Given the description of an element on the screen output the (x, y) to click on. 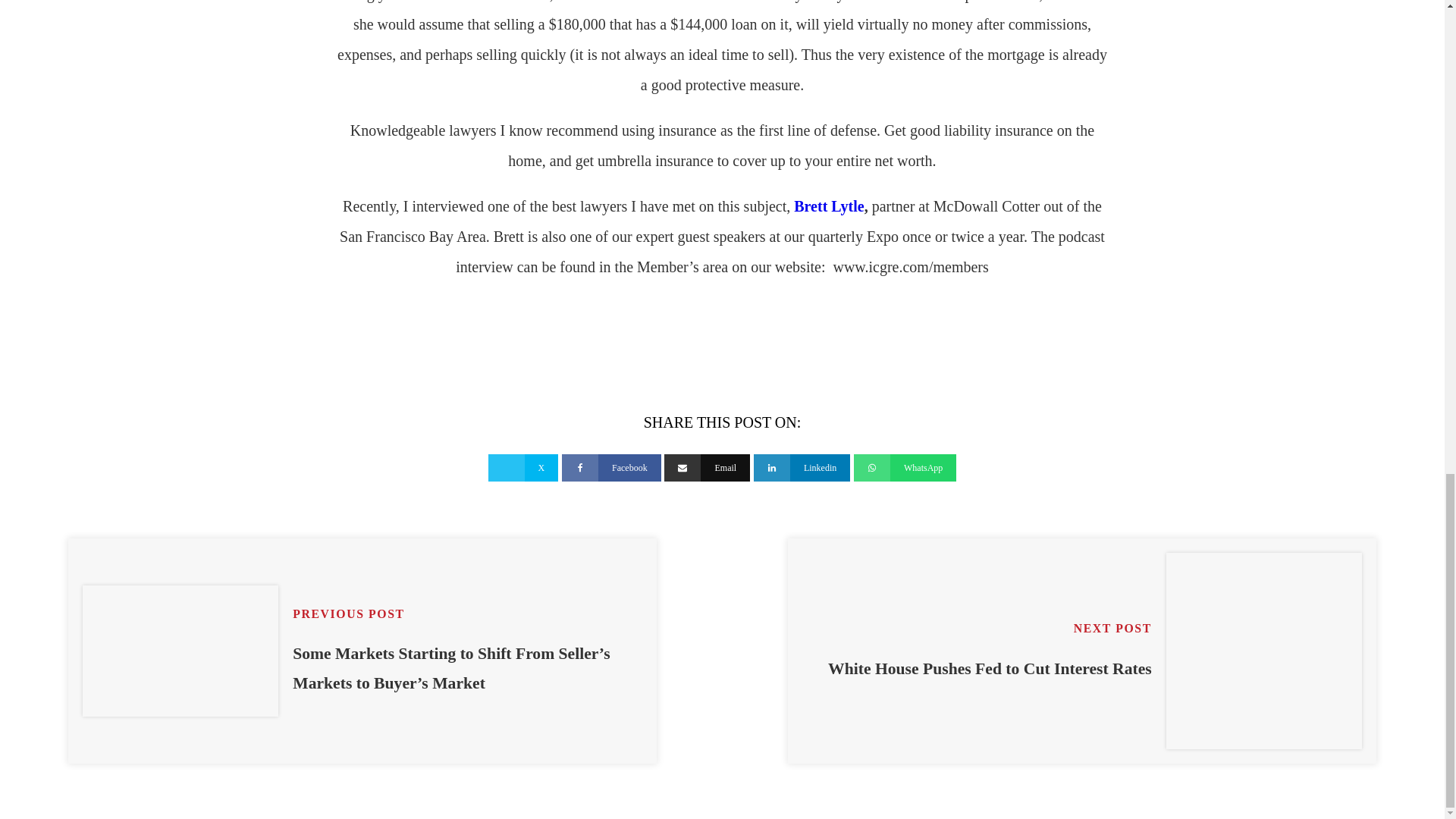
WhatsApp (904, 467)
Linkedin (802, 467)
Email (706, 467)
X (523, 467)
Brett Lytle (1082, 650)
Facebook (828, 206)
